Given the description of an element on the screen output the (x, y) to click on. 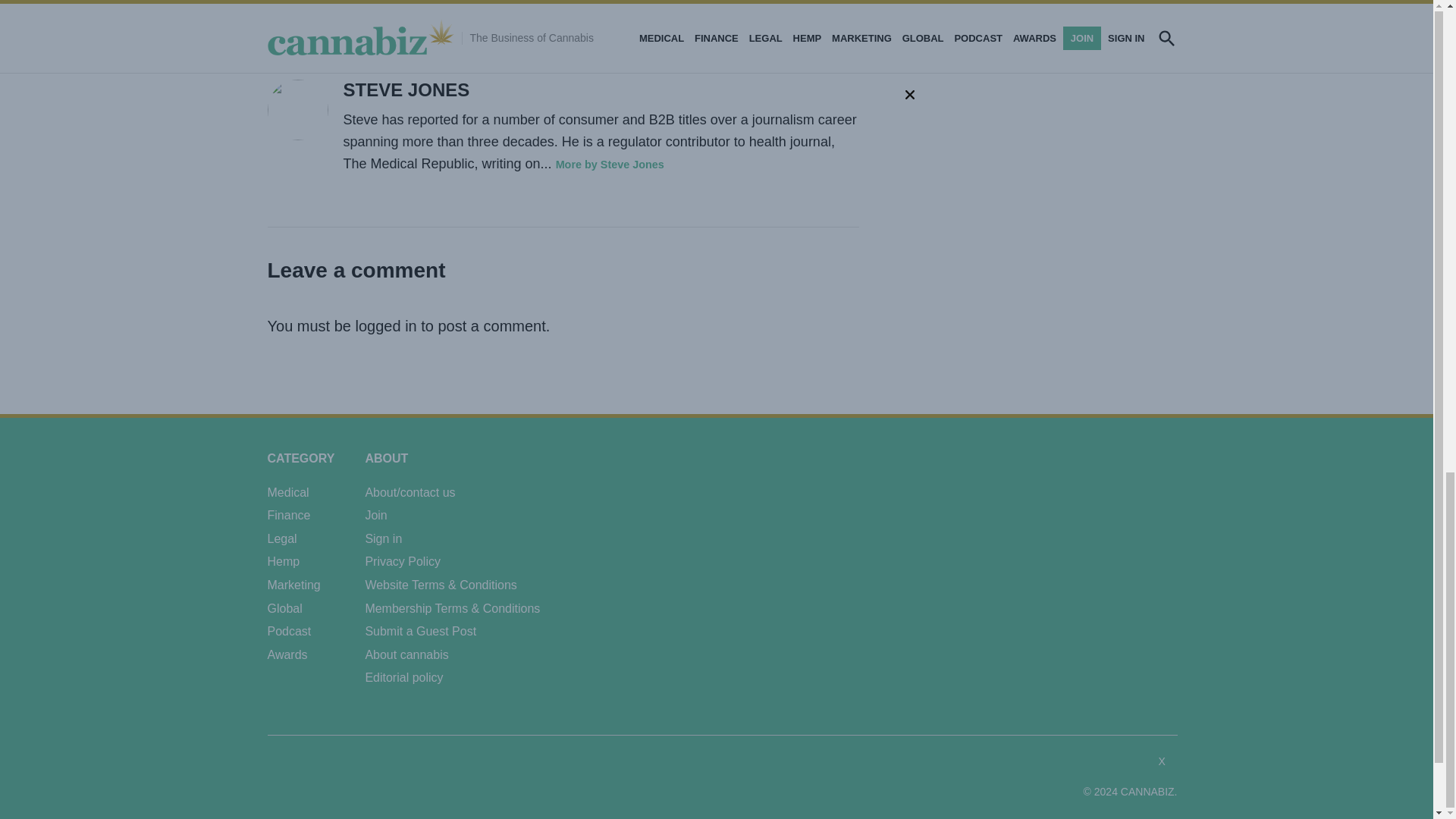
Althea (359, 17)
Joshua Fegan (427, 17)
Melodiol Global Health (534, 17)
